Given the description of an element on the screen output the (x, y) to click on. 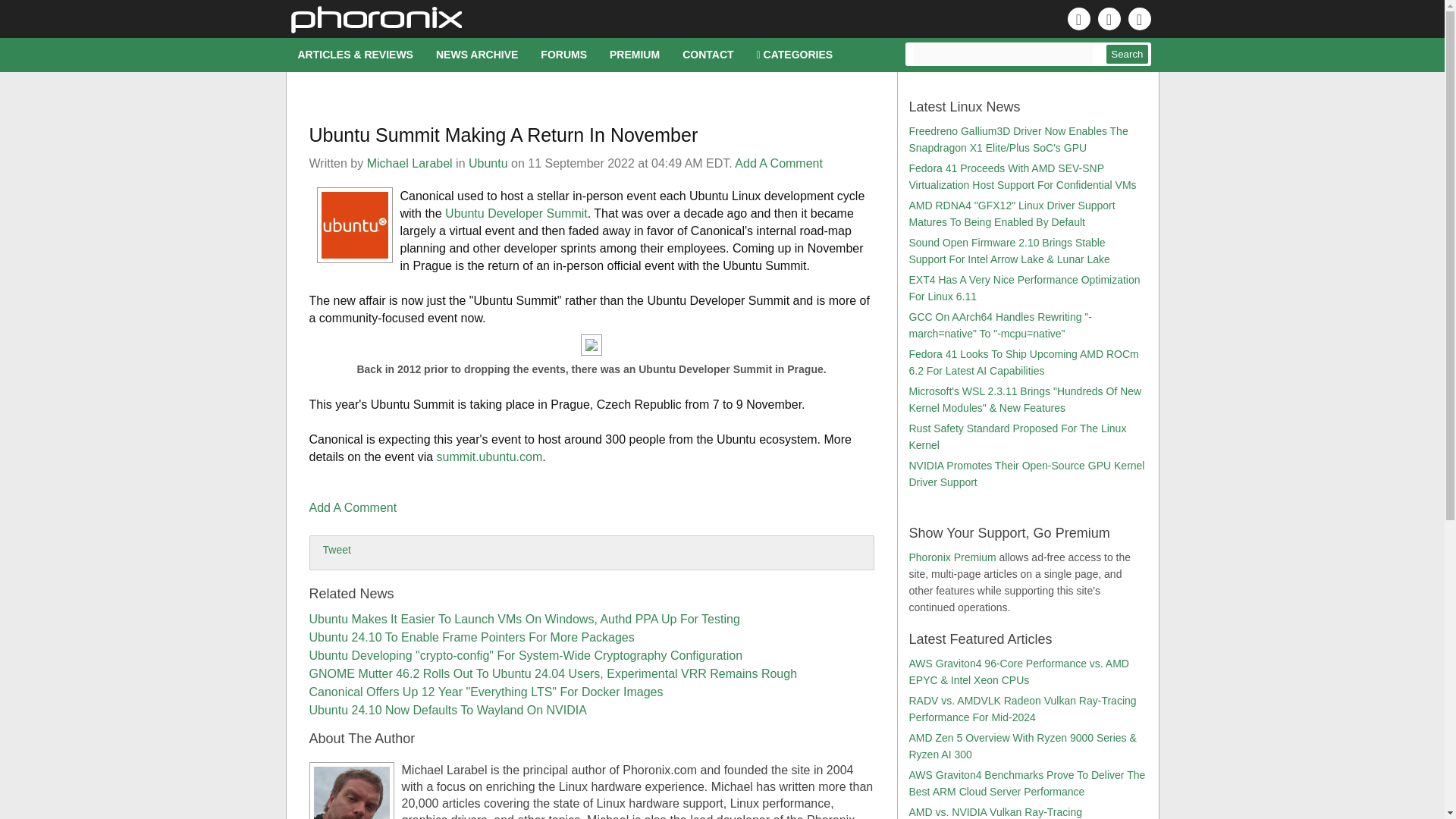
Add A Comment (352, 507)
CONTACT (707, 54)
Search (1126, 54)
PREMIUM (634, 54)
Michael Larabel (409, 163)
Ubuntu 24.10 To Enable Frame Pointers For More Packages (471, 636)
Search (1126, 54)
Add A Comment (778, 163)
Tweet (336, 549)
NEWS ARCHIVE (477, 54)
FORUMS (563, 54)
summit.ubuntu.com (489, 456)
